Given the description of an element on the screen output the (x, y) to click on. 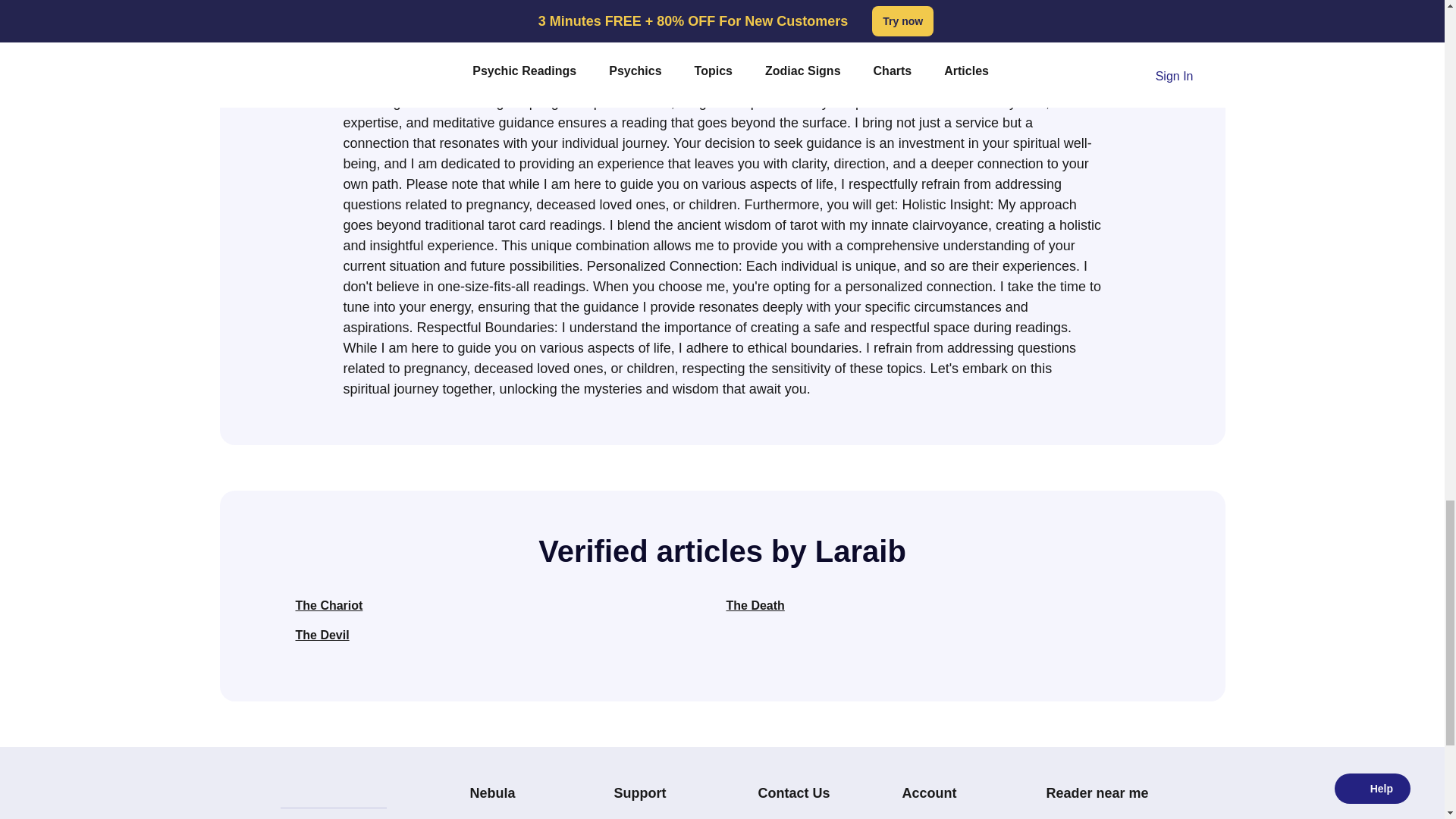
The Death (755, 604)
The Devil (322, 634)
The Chariot (328, 604)
